Given the description of an element on the screen output the (x, y) to click on. 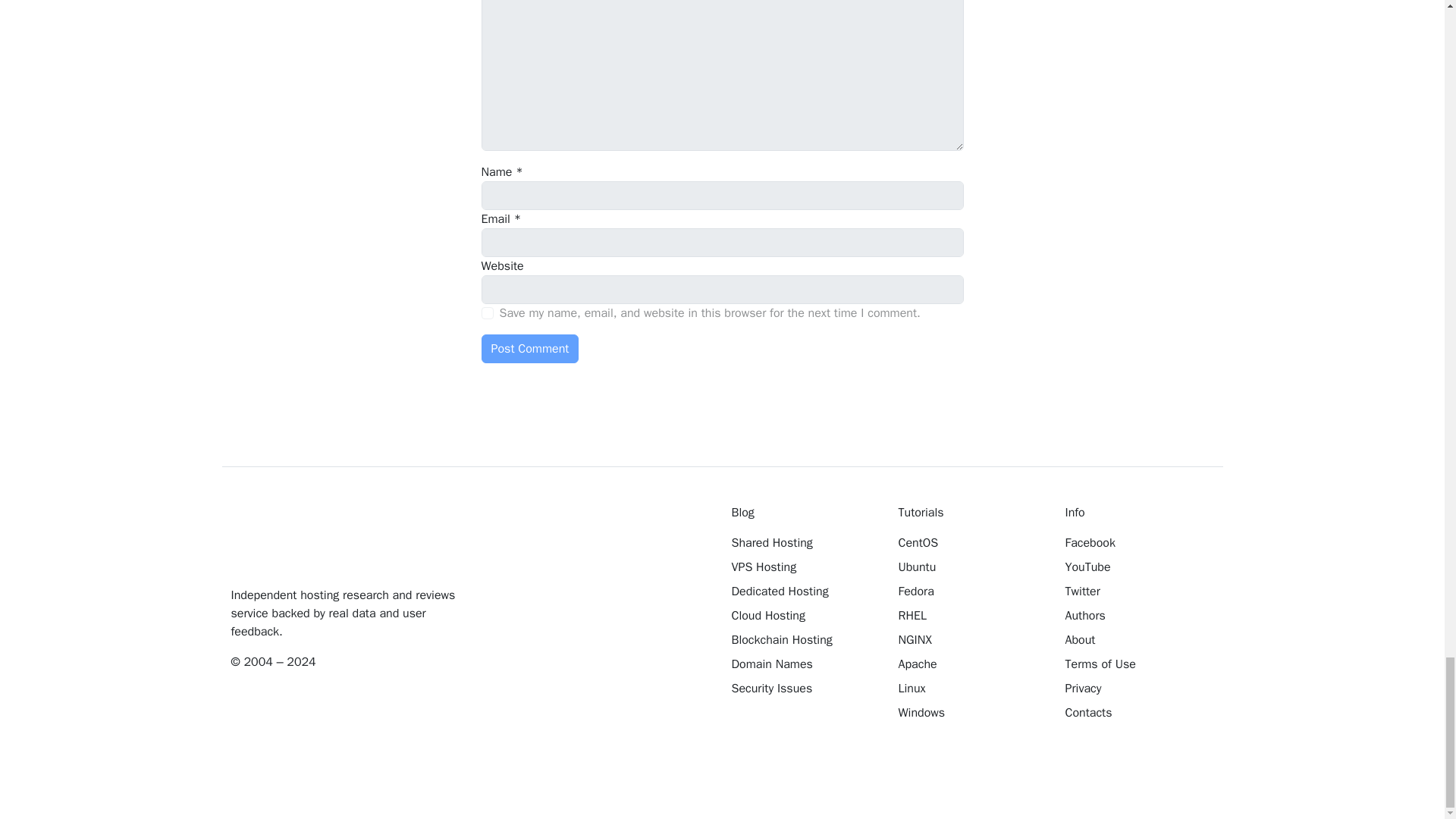
Post Comment (529, 348)
Post Comment (529, 348)
yes (486, 313)
Shared Hosting (803, 542)
